Given the description of an element on the screen output the (x, y) to click on. 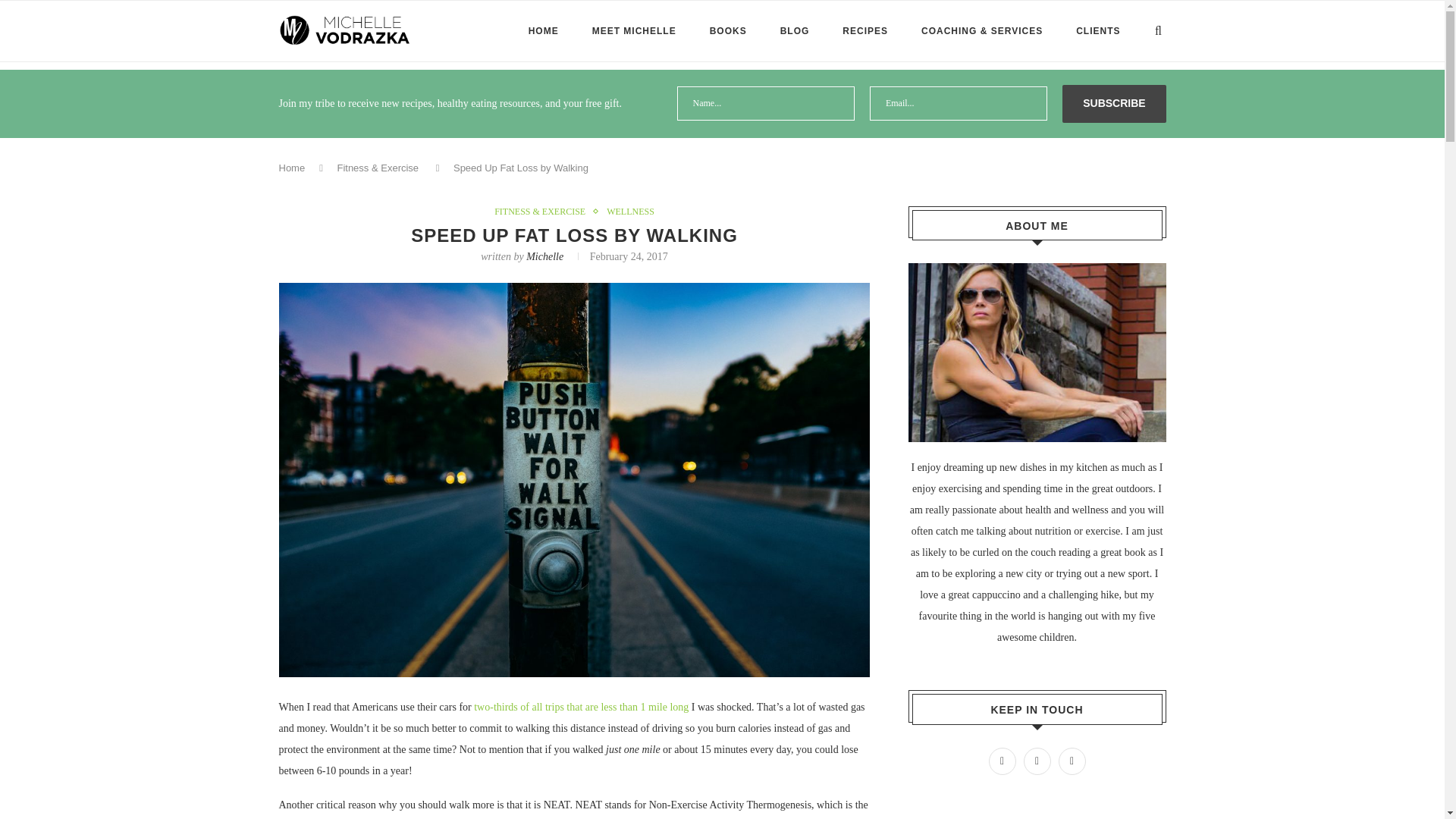
Subscribe (1114, 103)
